Given the description of an element on the screen output the (x, y) to click on. 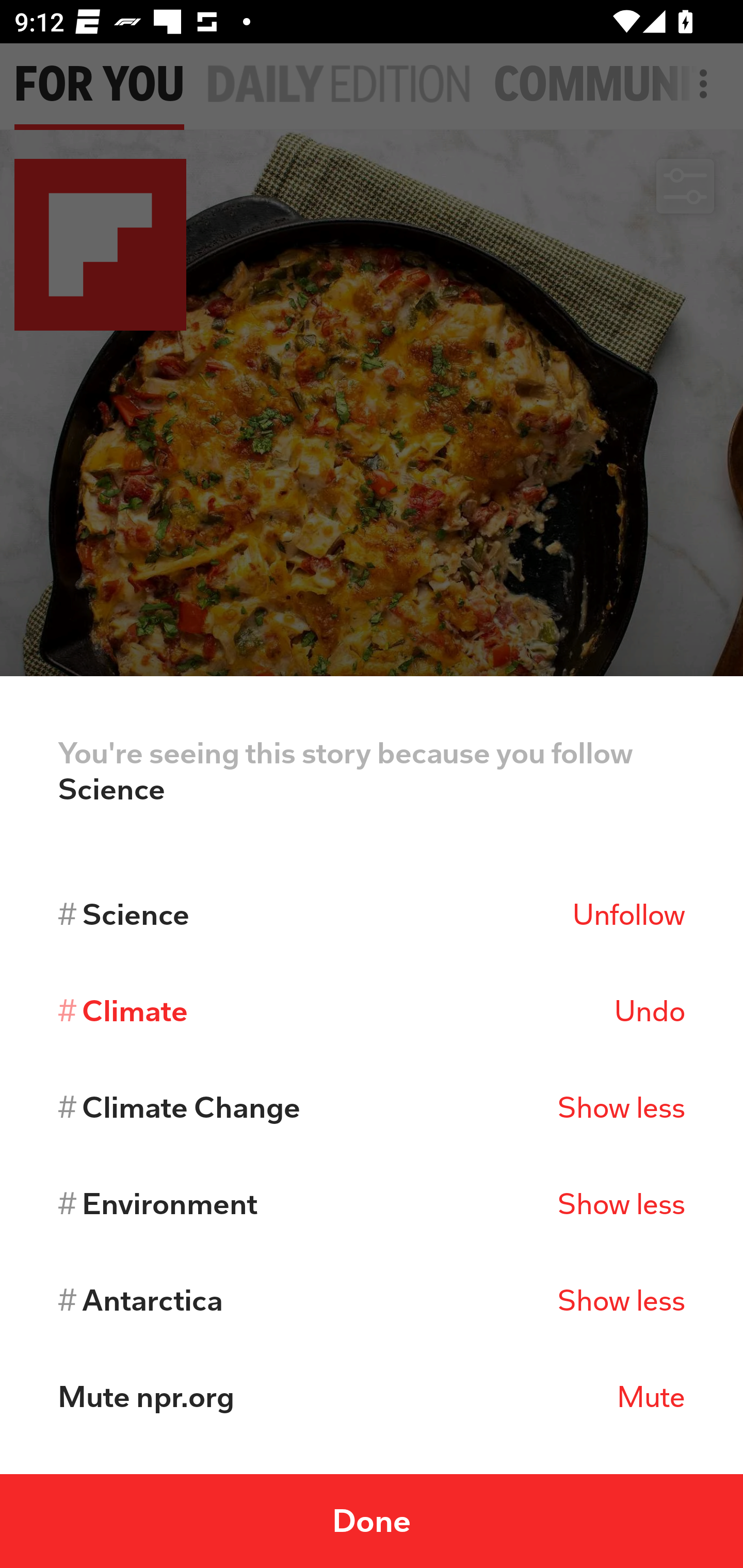
Unfollow (628, 914)
Undo (649, 1011)
Show less (621, 1107)
Show less (621, 1204)
Show less (621, 1300)
Mute (651, 1396)
Done (371, 1520)
